Given the description of an element on the screen output the (x, y) to click on. 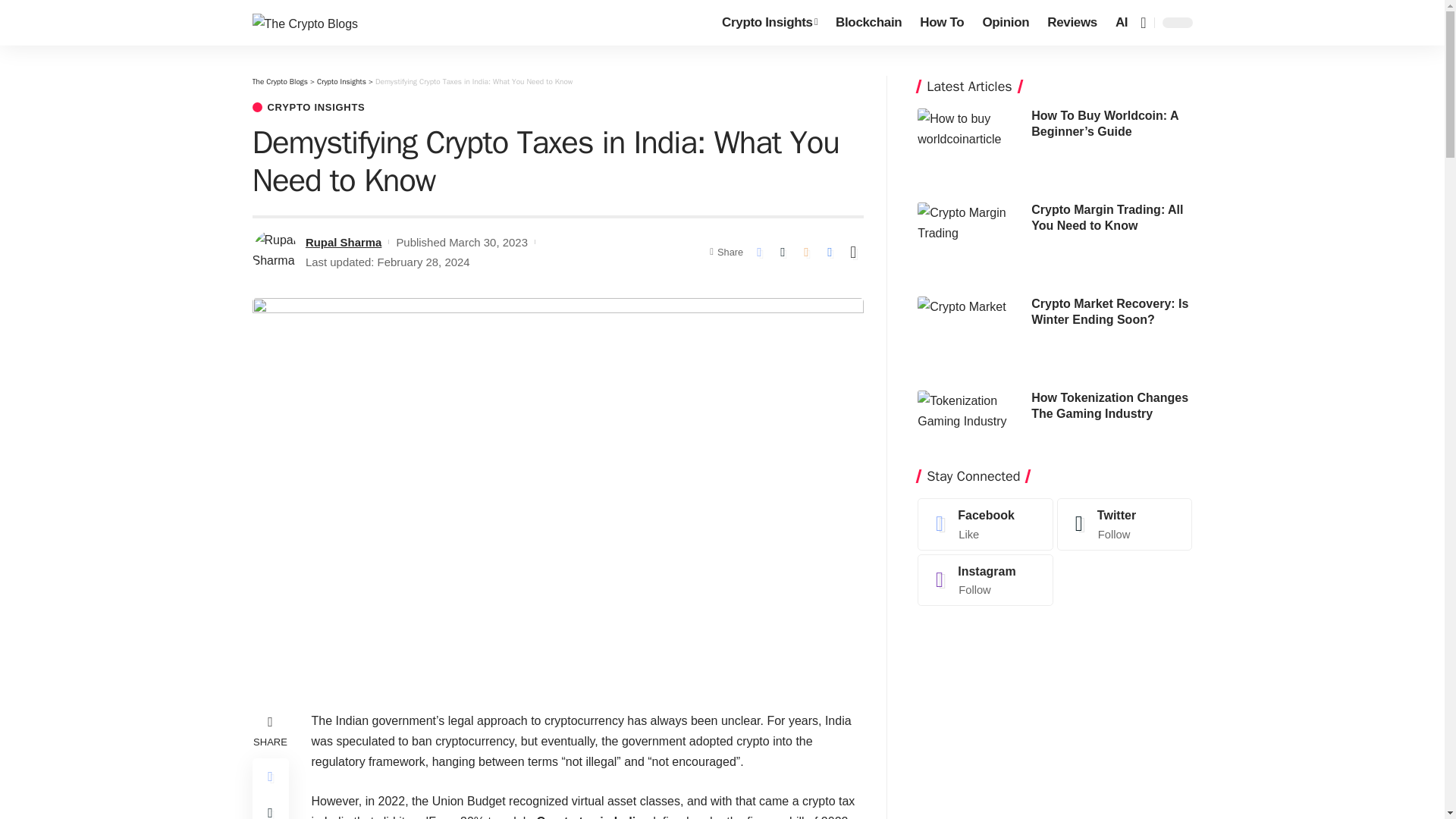
Crypto Insights (341, 81)
Crypto Market Recovery: Is Winter Ending Soon? (970, 328)
Reviews (1072, 22)
The Crypto Blogs (279, 81)
Go to The Crypto Blogs. (279, 81)
CRYPTO INSIGHTS (308, 107)
Rupal Sharma (343, 241)
The Crypto Blogs (304, 22)
Go to the Crypto Insights Category archives. (341, 81)
